Given the description of an element on the screen output the (x, y) to click on. 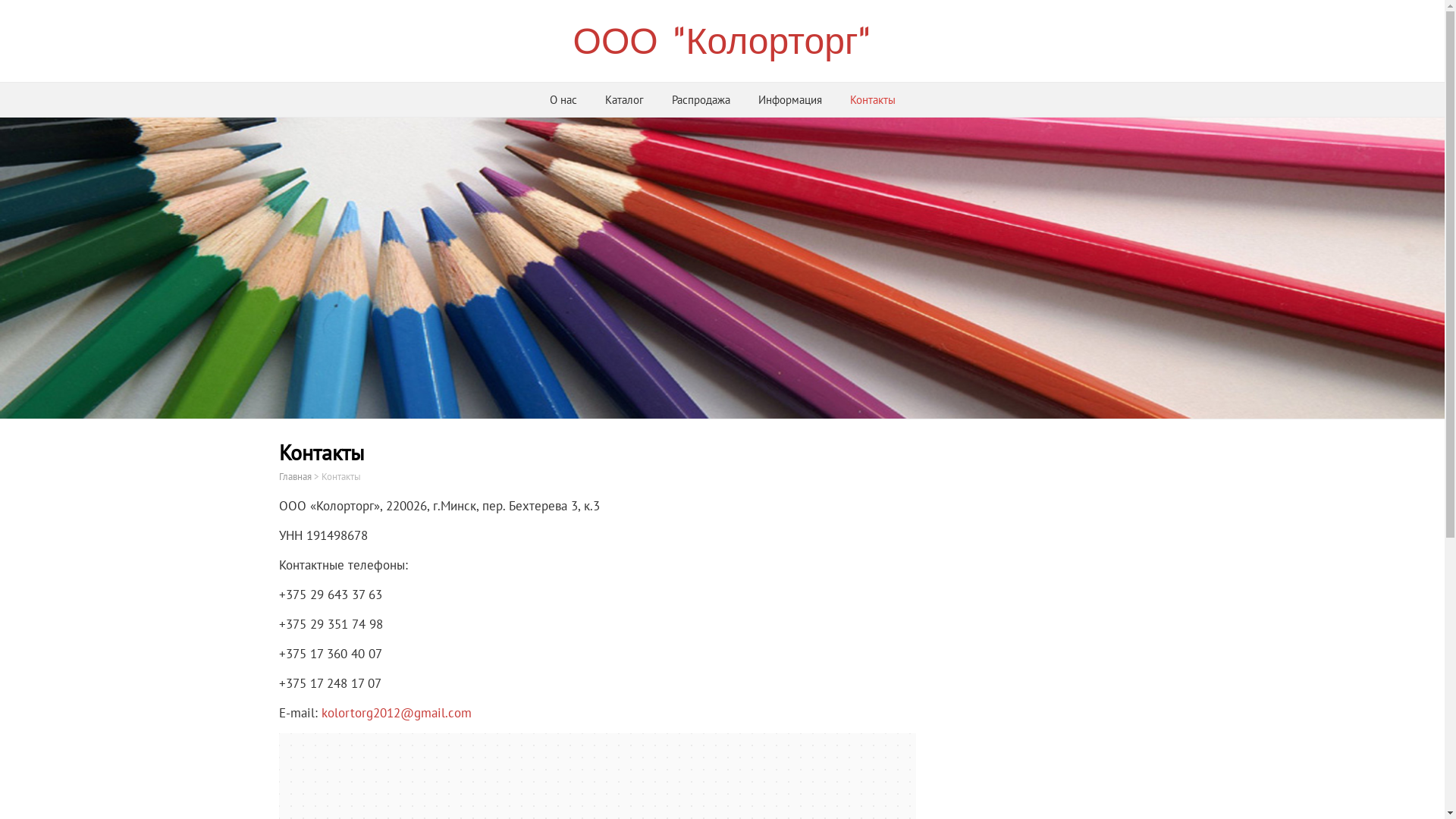
kolortorg2012@gmail.com Element type: text (396, 712)
